Given the description of an element on the screen output the (x, y) to click on. 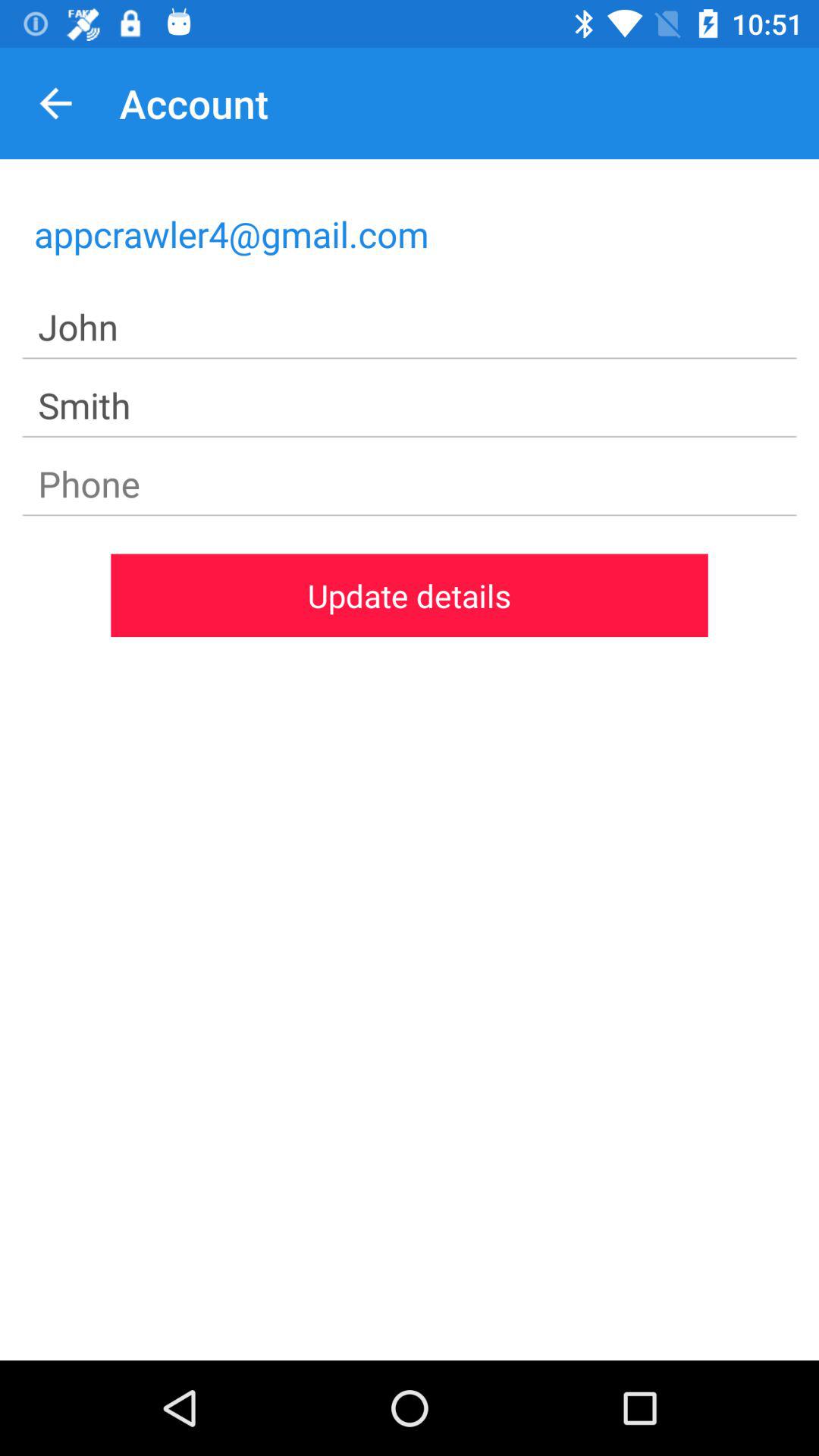
click the icon next to account (55, 103)
